Given the description of an element on the screen output the (x, y) to click on. 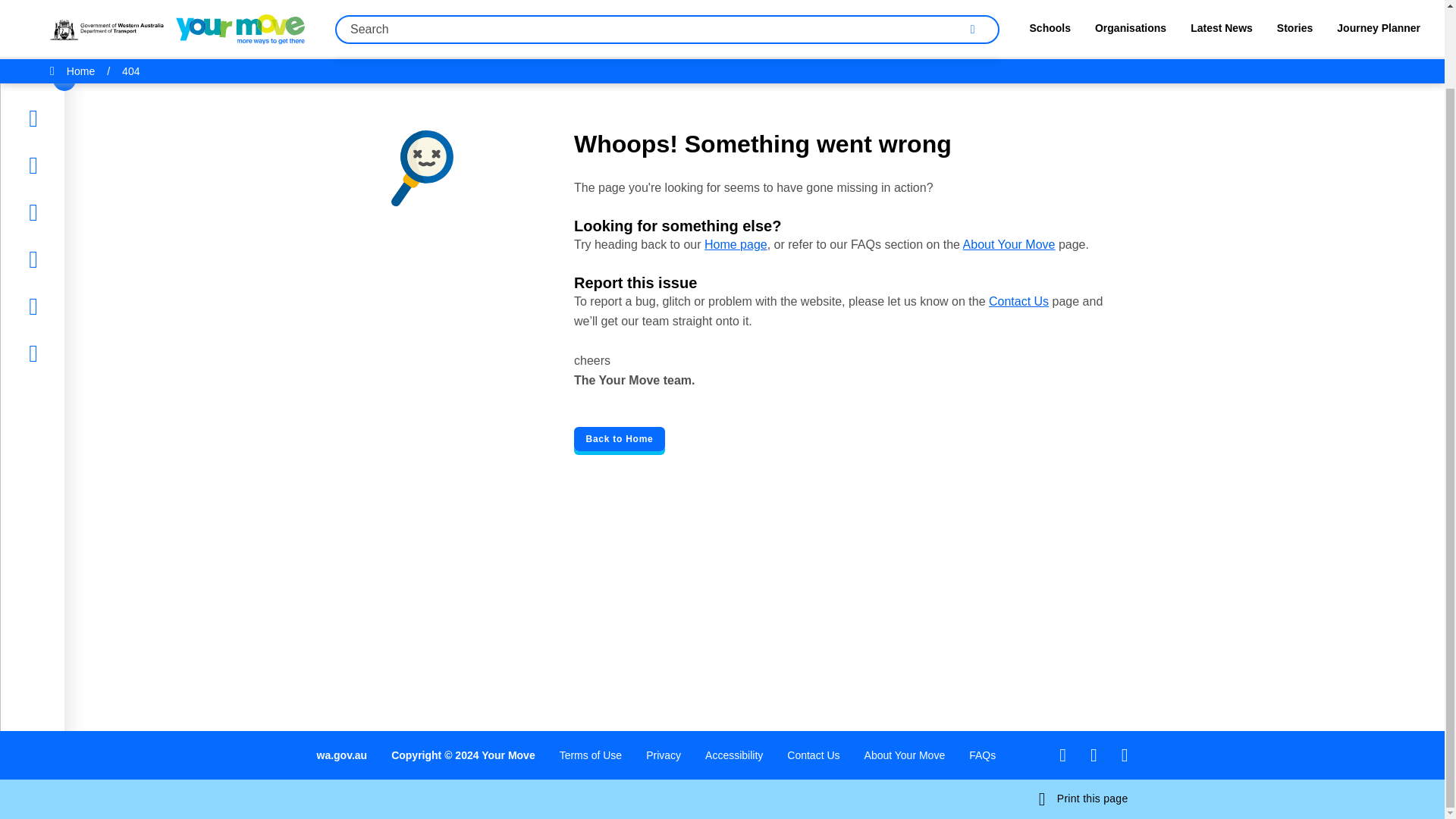
Back to Home (619, 438)
Privacy (663, 755)
Journey Planner (87, 218)
Register (65, 265)
About Your Move (1008, 244)
Home page (735, 244)
Resources (71, 170)
Accessibility (733, 755)
Contact Us (1018, 300)
Stories (61, 77)
Latest News (77, 124)
Contact Us (813, 755)
Terms of Use (590, 755)
About Your Move (904, 755)
Print this page (1083, 799)
